Given the description of an element on the screen output the (x, y) to click on. 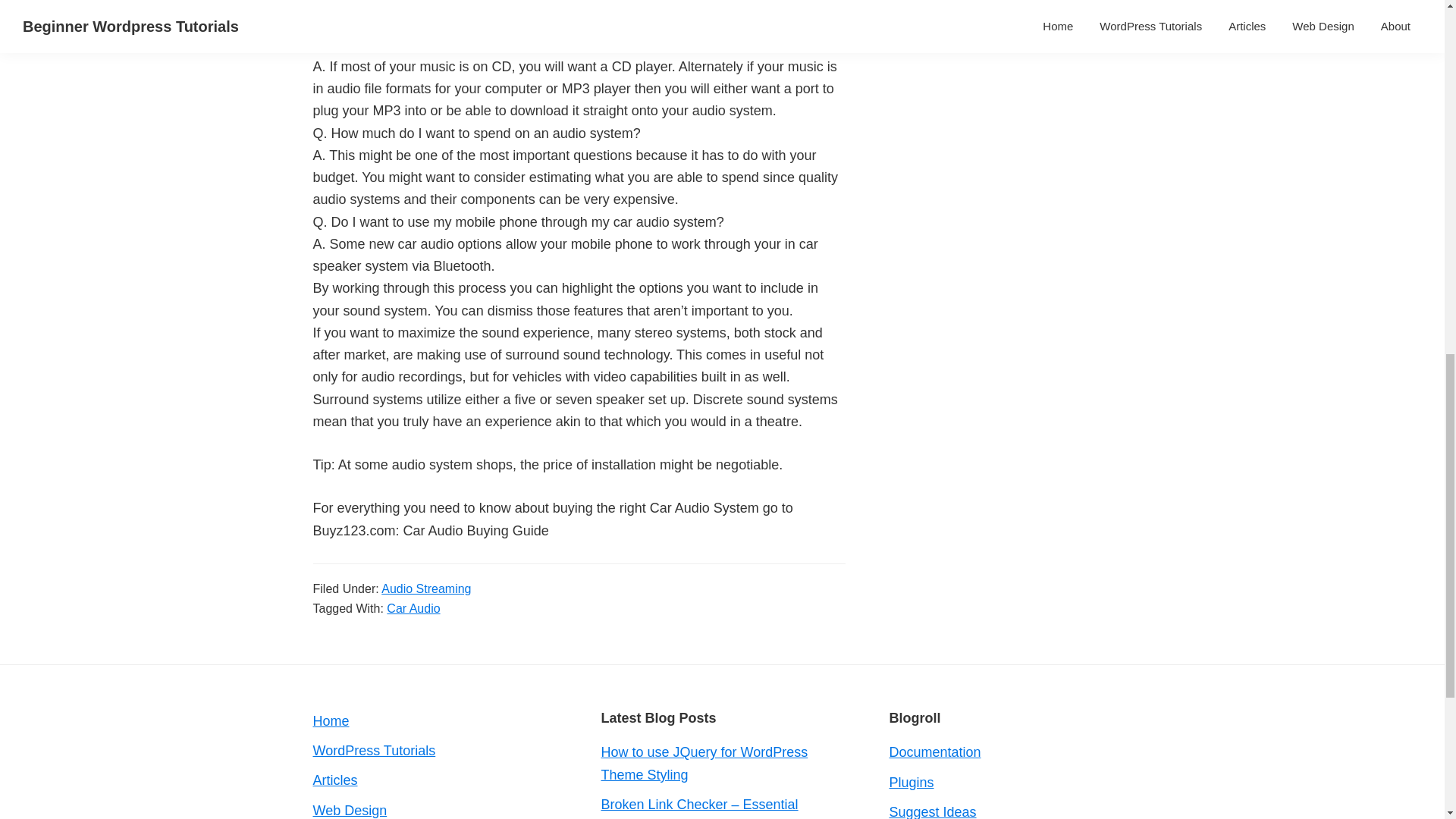
Car Audio (413, 608)
Audio Streaming (425, 588)
